Given the description of an element on the screen output the (x, y) to click on. 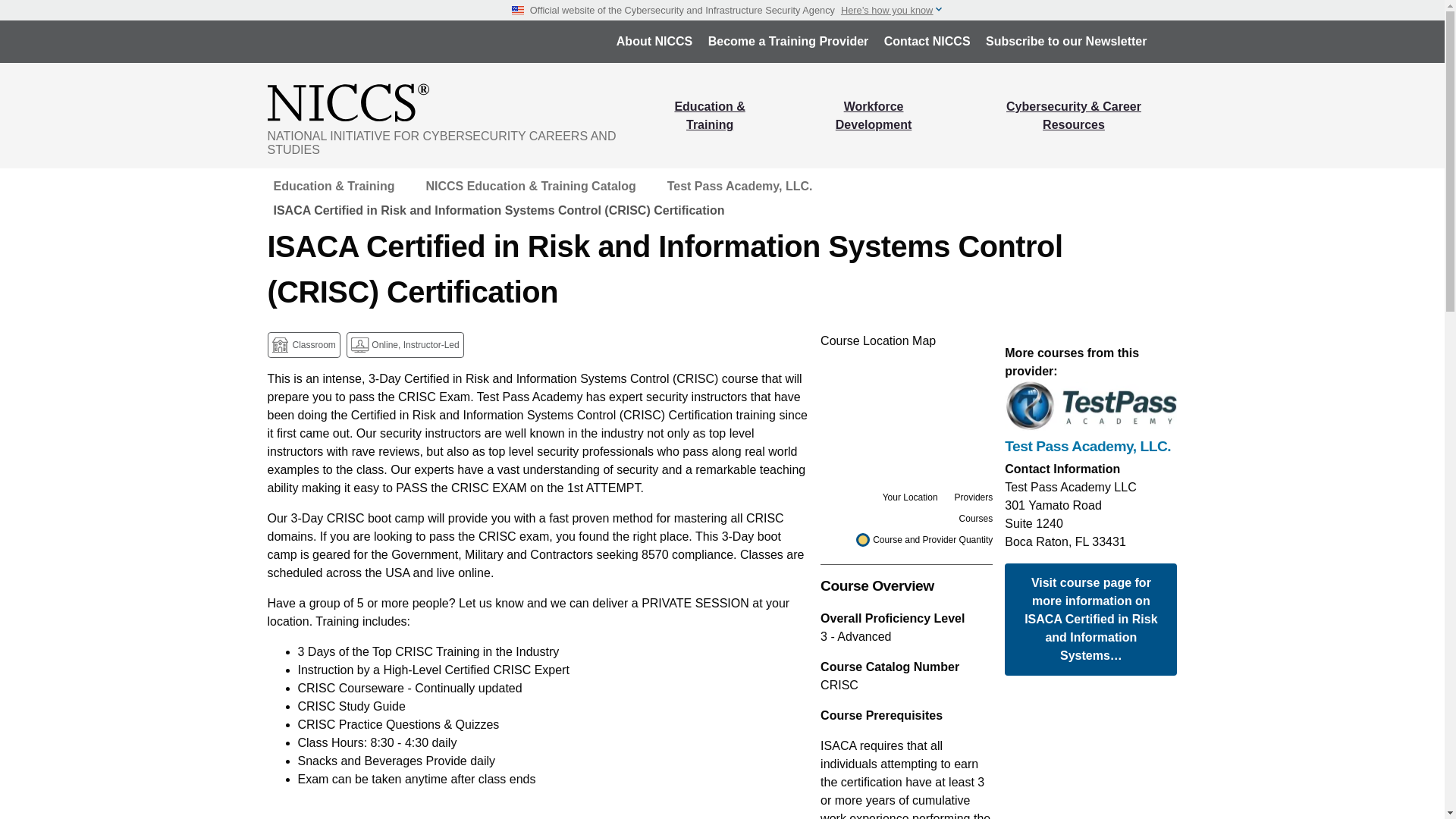
More courses from Test Pass Academy, LLC. (1090, 405)
About NICCS (654, 41)
About NICCS (654, 41)
More courses from Test Pass Academy, LLC. (1090, 445)
Contact NICCS (926, 41)
Test Pass Academy, LLC. (739, 186)
Become a Training Provider (788, 41)
Workforce Development (873, 115)
Test Pass Academy, LLC. (1090, 445)
National Initiative for Cybersecurity Careers and Studies (454, 102)
Become a Training Provider (788, 41)
Subscribe to our Newsletter (1066, 41)
Course Location Map (906, 408)
